Given the description of an element on the screen output the (x, y) to click on. 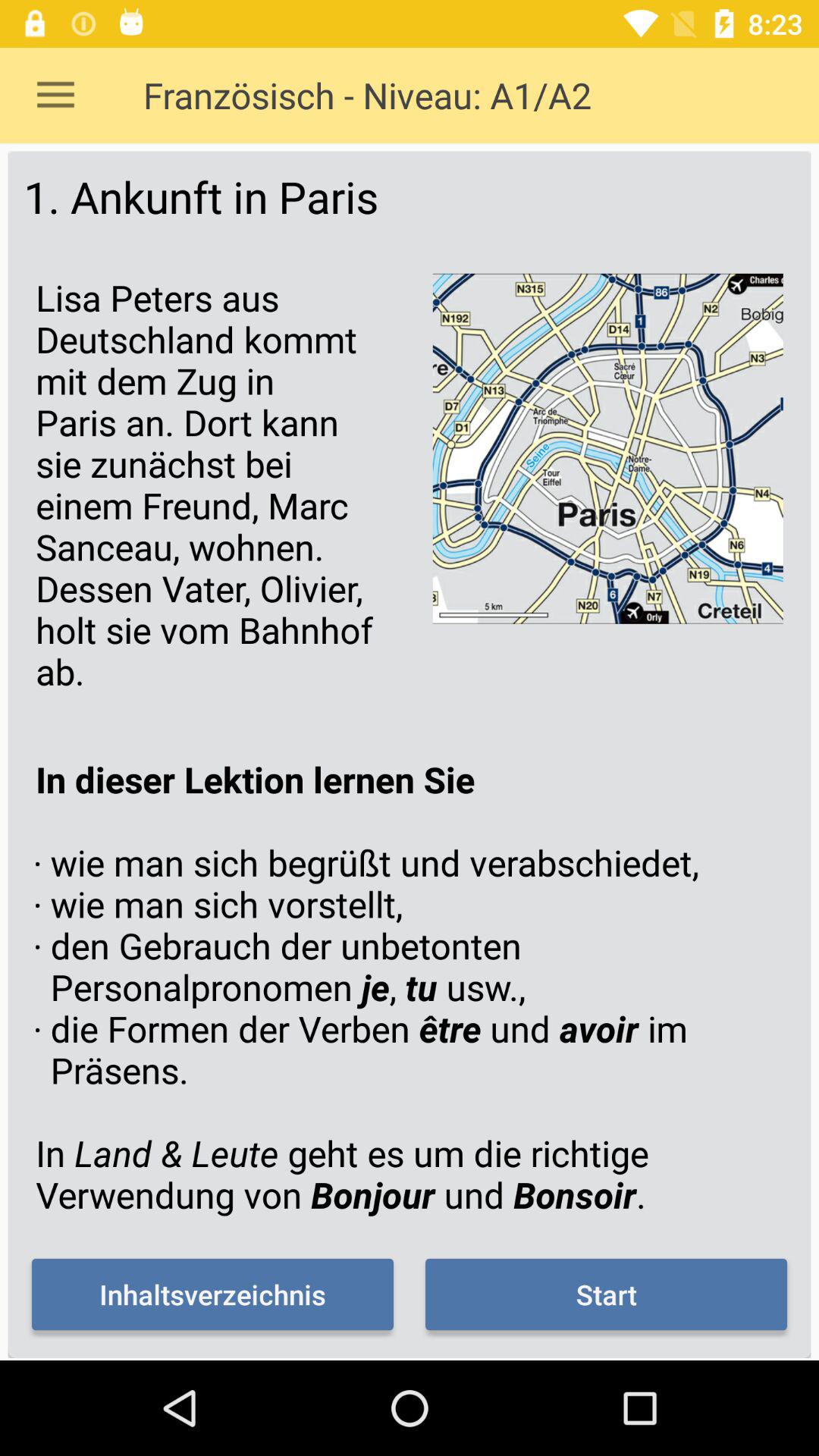
tap the item to the right of the inhaltsverzeichnis icon (606, 1294)
